Given the description of an element on the screen output the (x, y) to click on. 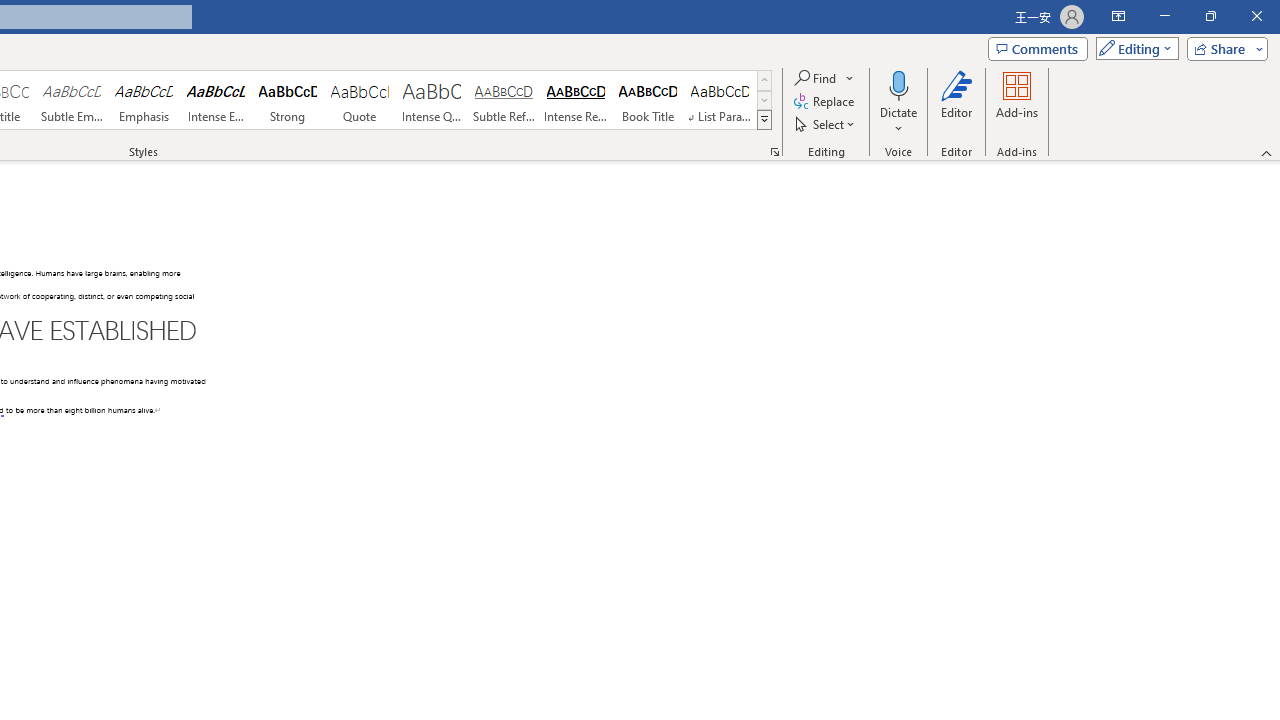
Comments (1038, 48)
Restore Down (1210, 16)
Replace... (826, 101)
Ribbon Display Options (1118, 16)
Editor (956, 102)
Intense Emphasis (216, 100)
Book Title (647, 100)
Emphasis (143, 100)
Minimize (1164, 16)
Collapse the Ribbon (1267, 152)
Find (824, 78)
Row up (763, 79)
Close (1256, 16)
Subtle Reference (504, 100)
